Given the description of an element on the screen output the (x, y) to click on. 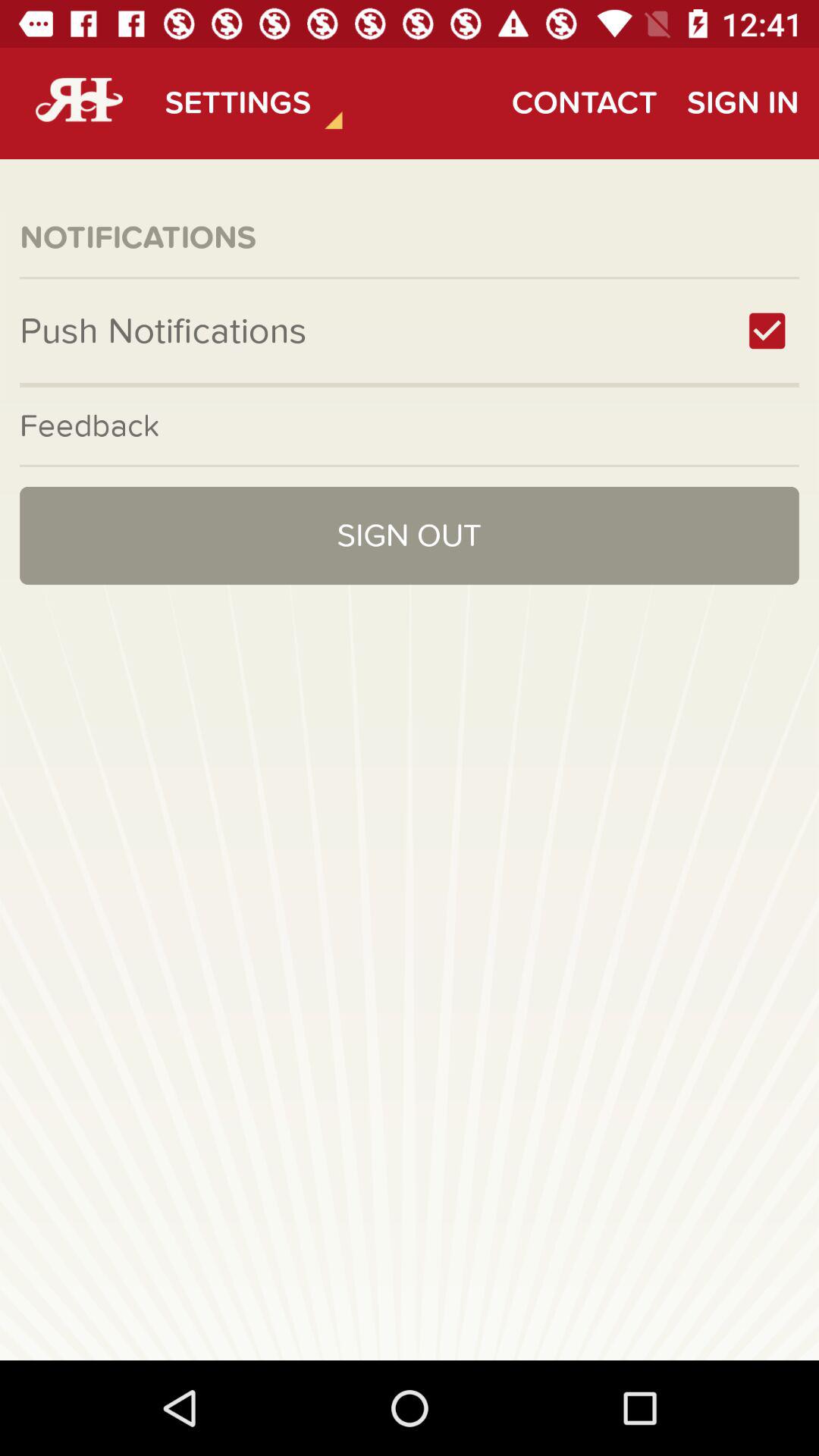
turn off feedback (409, 425)
